Given the description of an element on the screen output the (x, y) to click on. 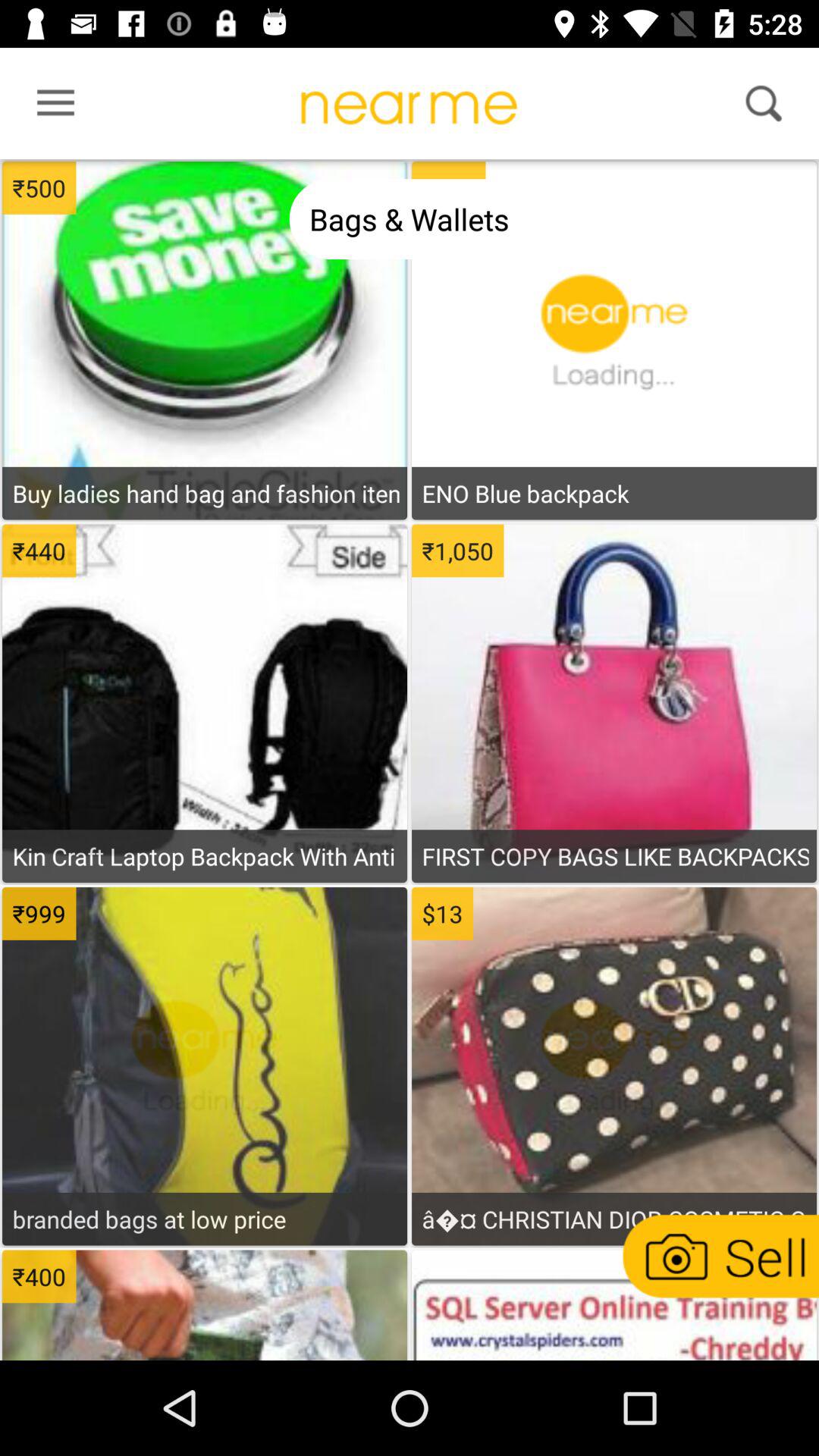
selection choice (205, 273)
